Given the description of an element on the screen output the (x, y) to click on. 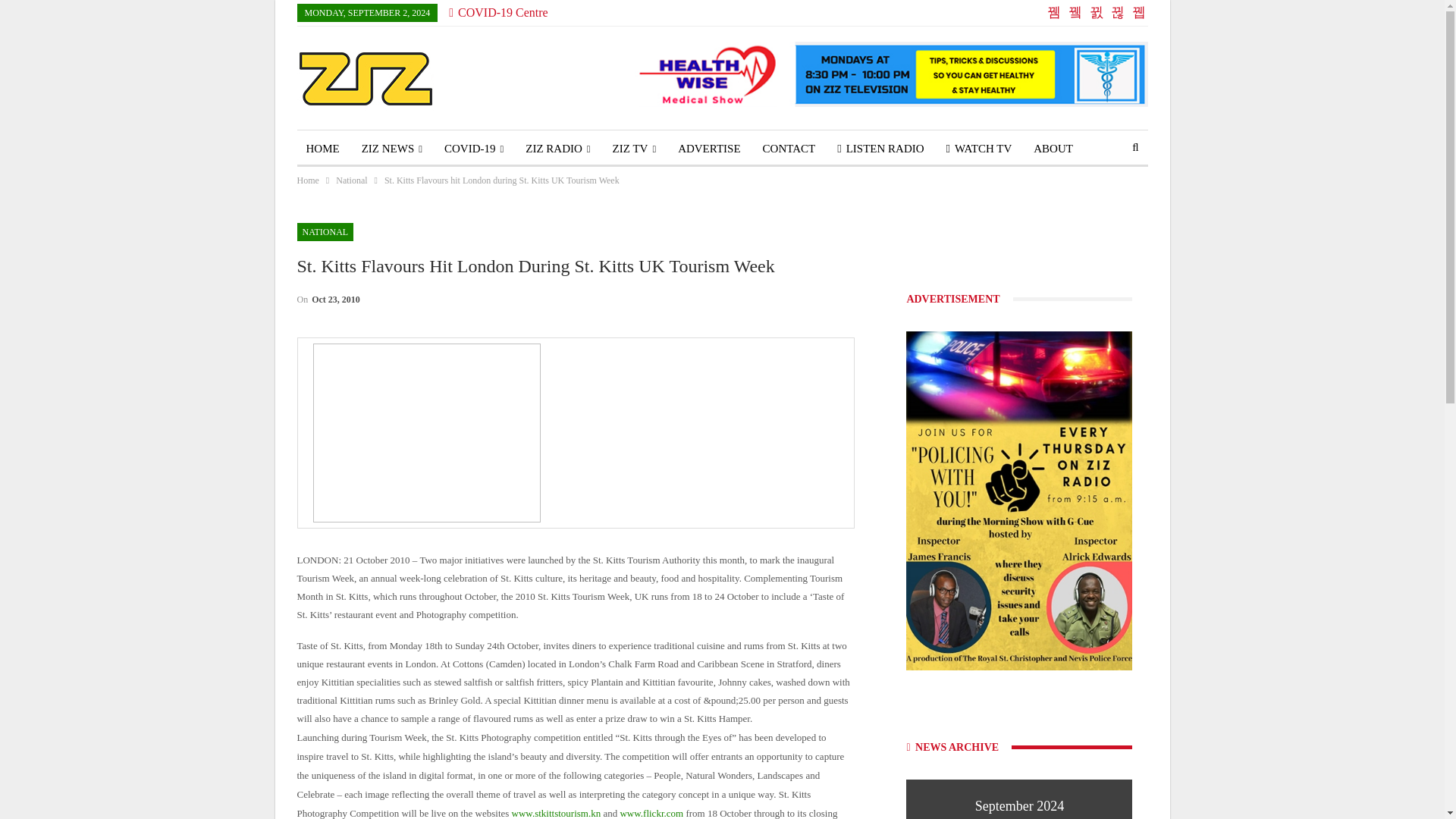
COVID-19 (473, 148)
ZIZ NEWS (391, 148)
COVID-19 Centre (497, 11)
HOME (323, 148)
ZIZ RADIO (557, 148)
